Given the description of an element on the screen output the (x, y) to click on. 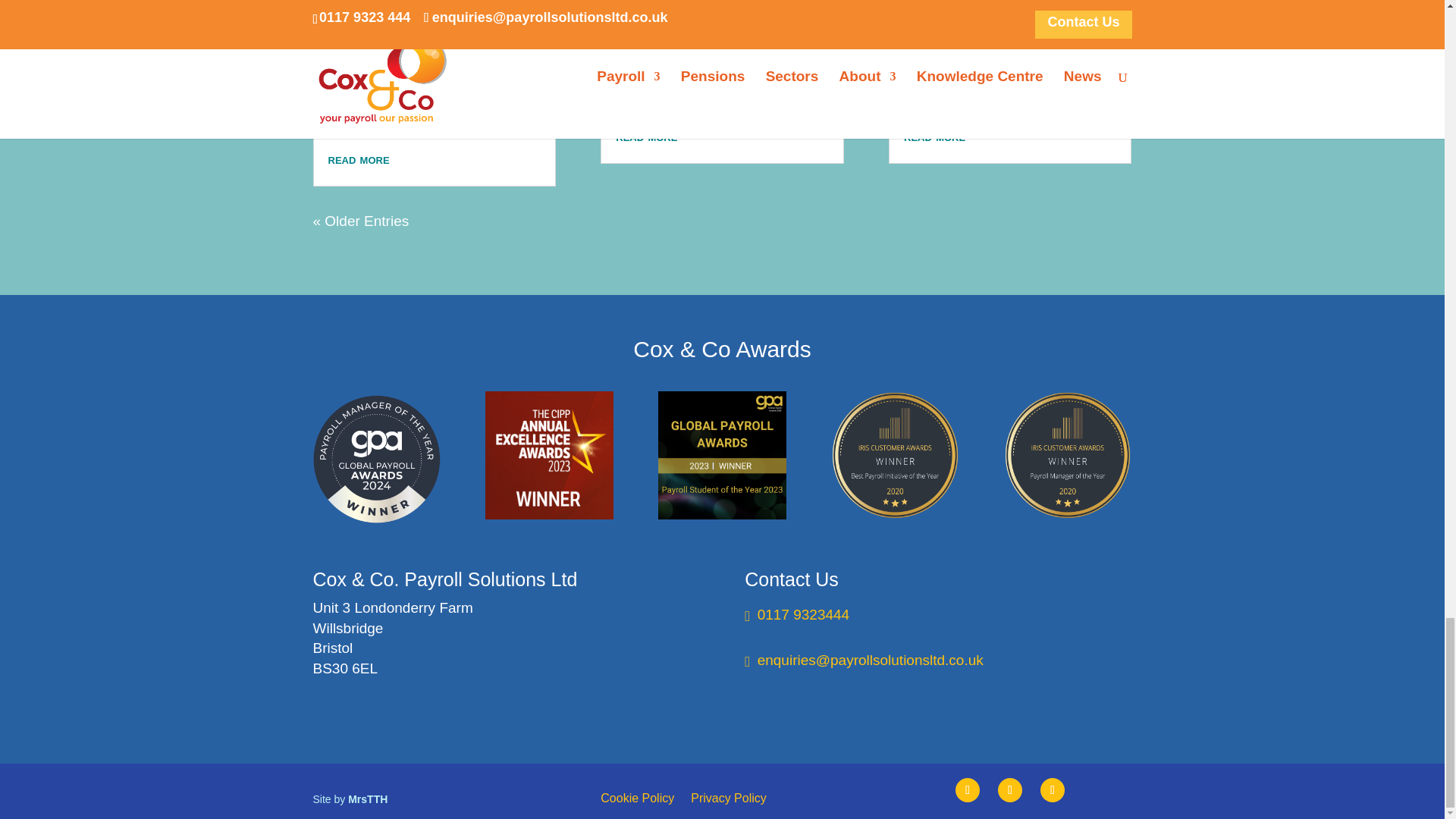
Follow on LinkedIn (1052, 790)
Follow on Youtube (1009, 790)
Winner - Global Payroll Awards 2024 (376, 458)
Follow on X (967, 790)
